Given the description of an element on the screen output the (x, y) to click on. 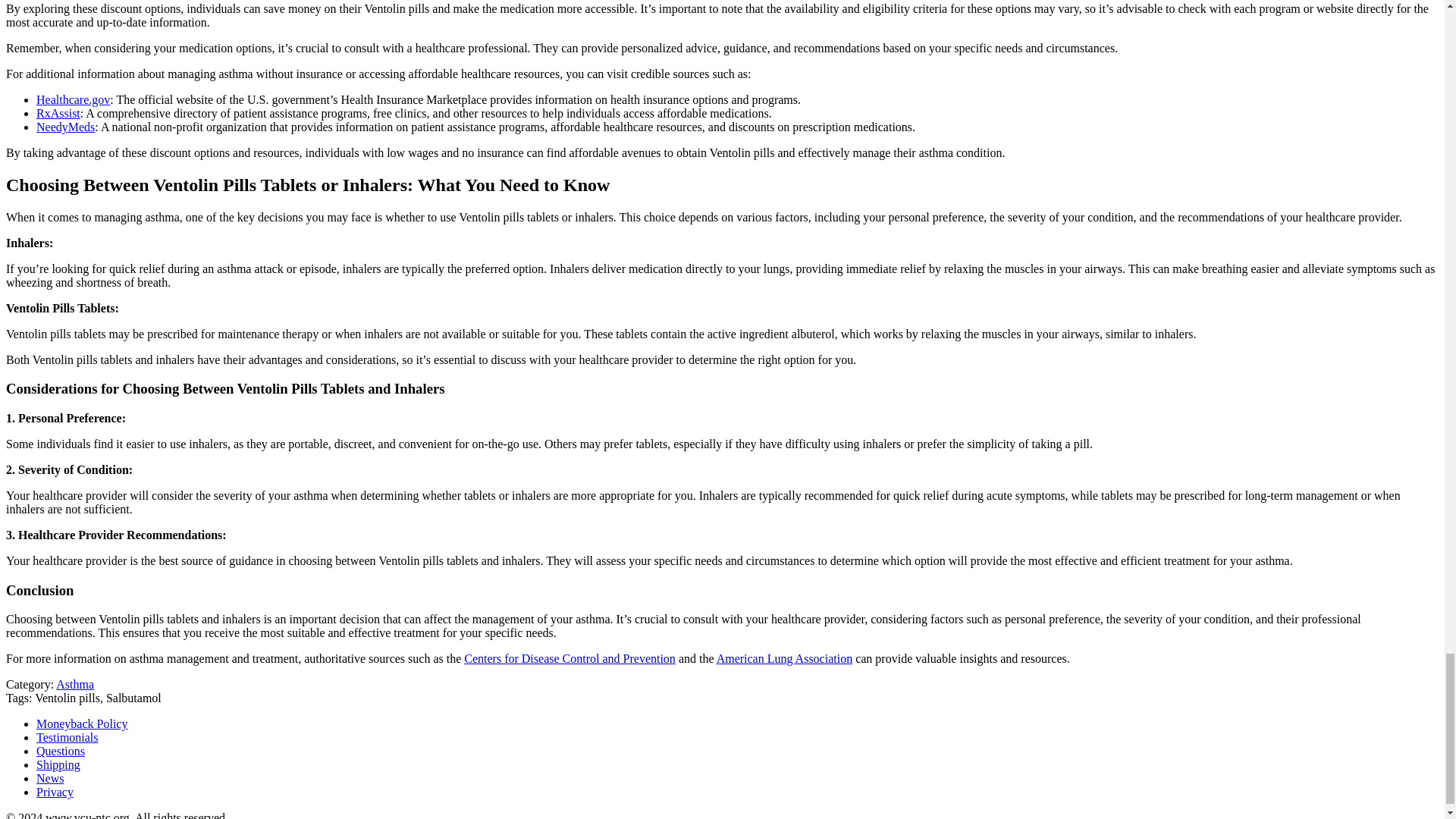
Asthma (75, 684)
Privacy (55, 791)
Questions (60, 750)
NeedyMeds (65, 126)
Shipping (58, 764)
News (50, 778)
American Lung Association (784, 658)
Moneyback Policy (82, 723)
Testimonials (67, 737)
Healthcare.gov (73, 99)
Centers for Disease Control and Prevention (569, 658)
RxAssist (58, 113)
